Given the description of an element on the screen output the (x, y) to click on. 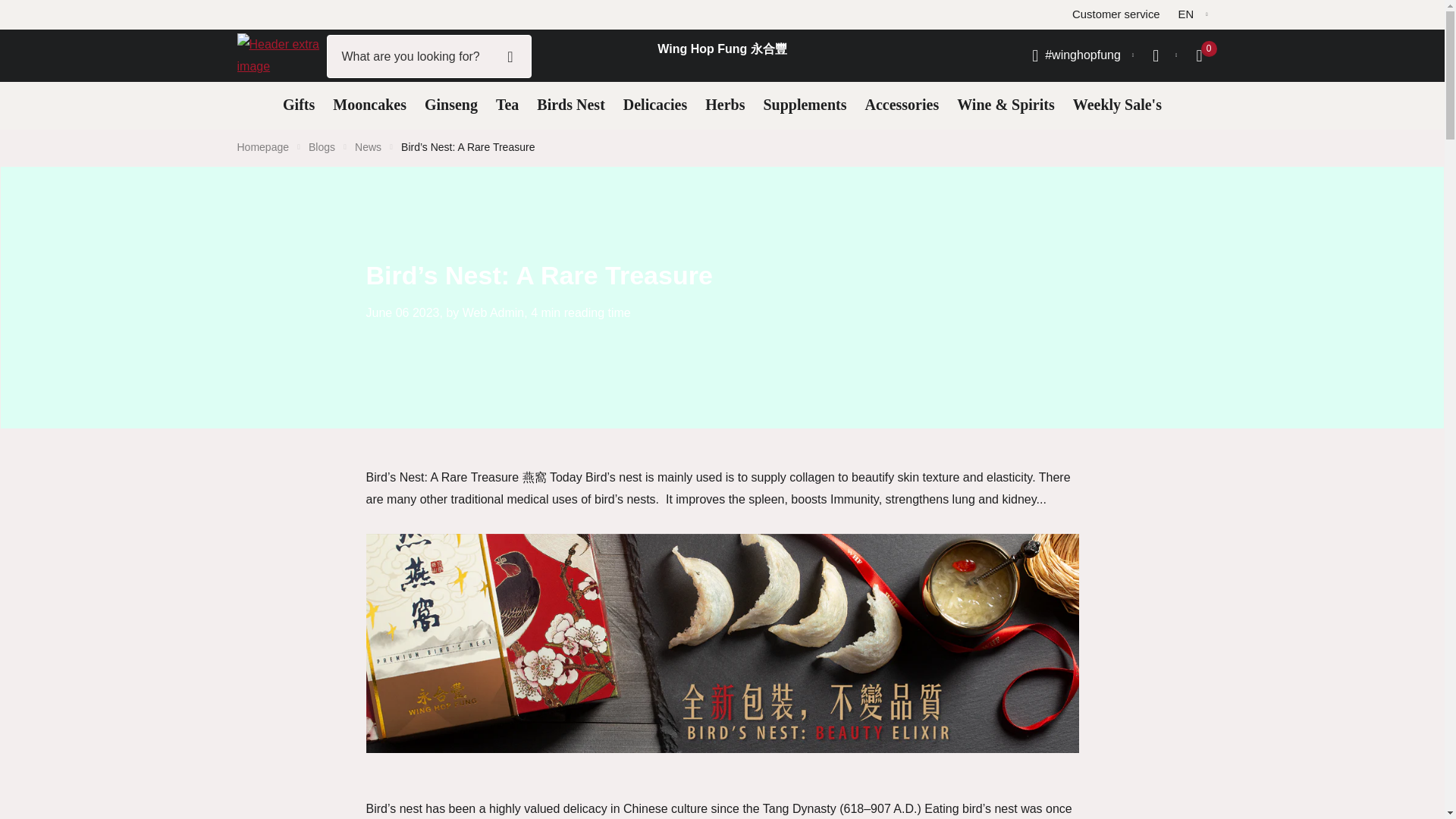
Mooncakes (369, 105)
Zoeken (510, 56)
Ginseng (451, 105)
EN (1192, 15)
Customer service (1114, 15)
Home (261, 146)
